Given the description of an element on the screen output the (x, y) to click on. 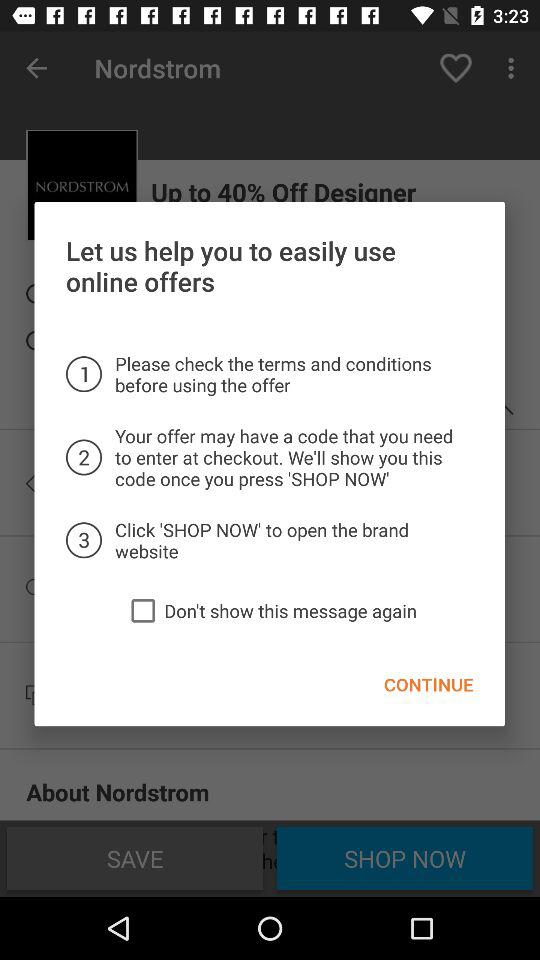
tap the item at the bottom right corner (428, 683)
